Given the description of an element on the screen output the (x, y) to click on. 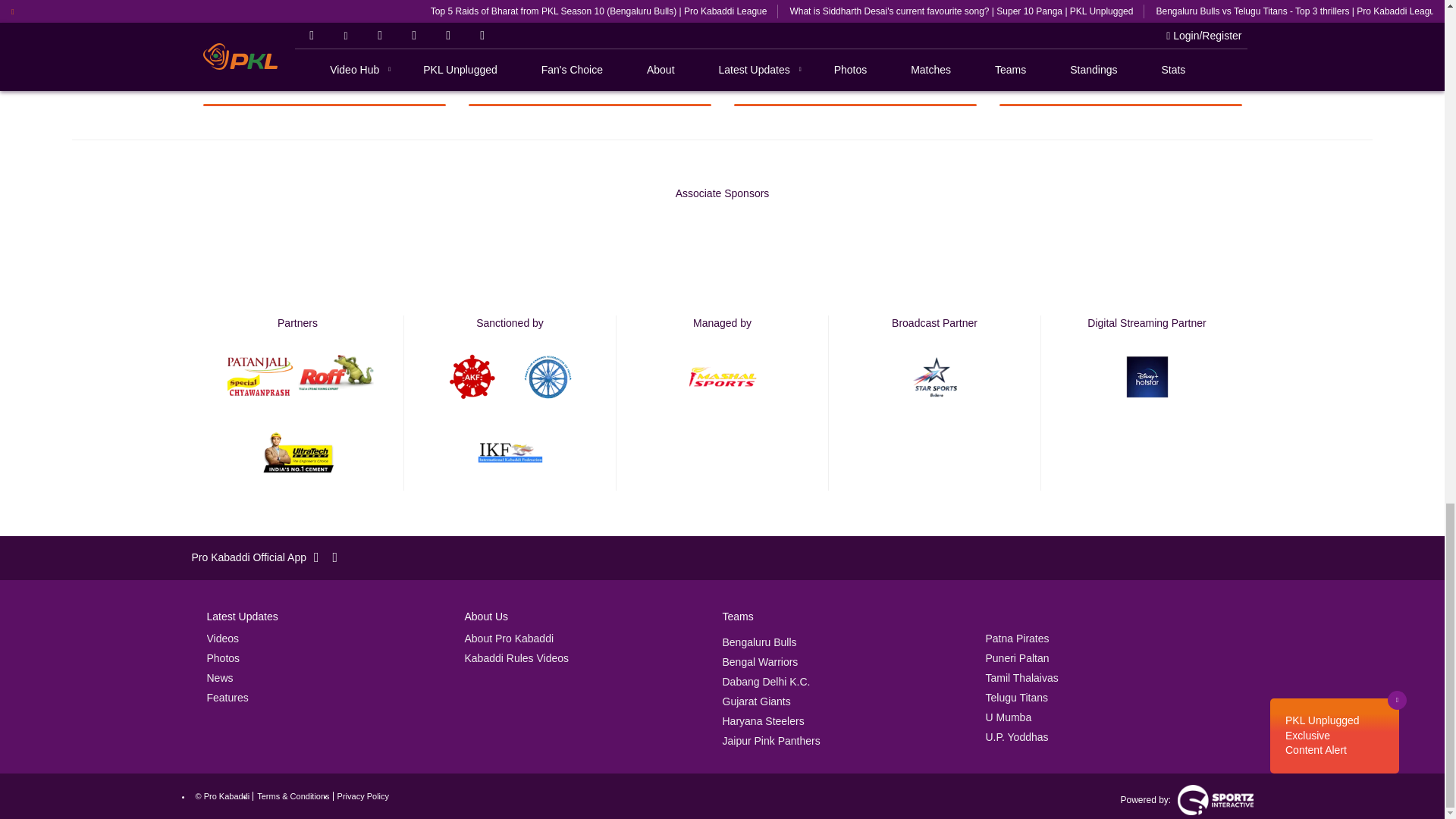
pro kabaddi ios app store link (322, 558)
Dream11 (722, 246)
Videos (222, 638)
